Given the description of an element on the screen output the (x, y) to click on. 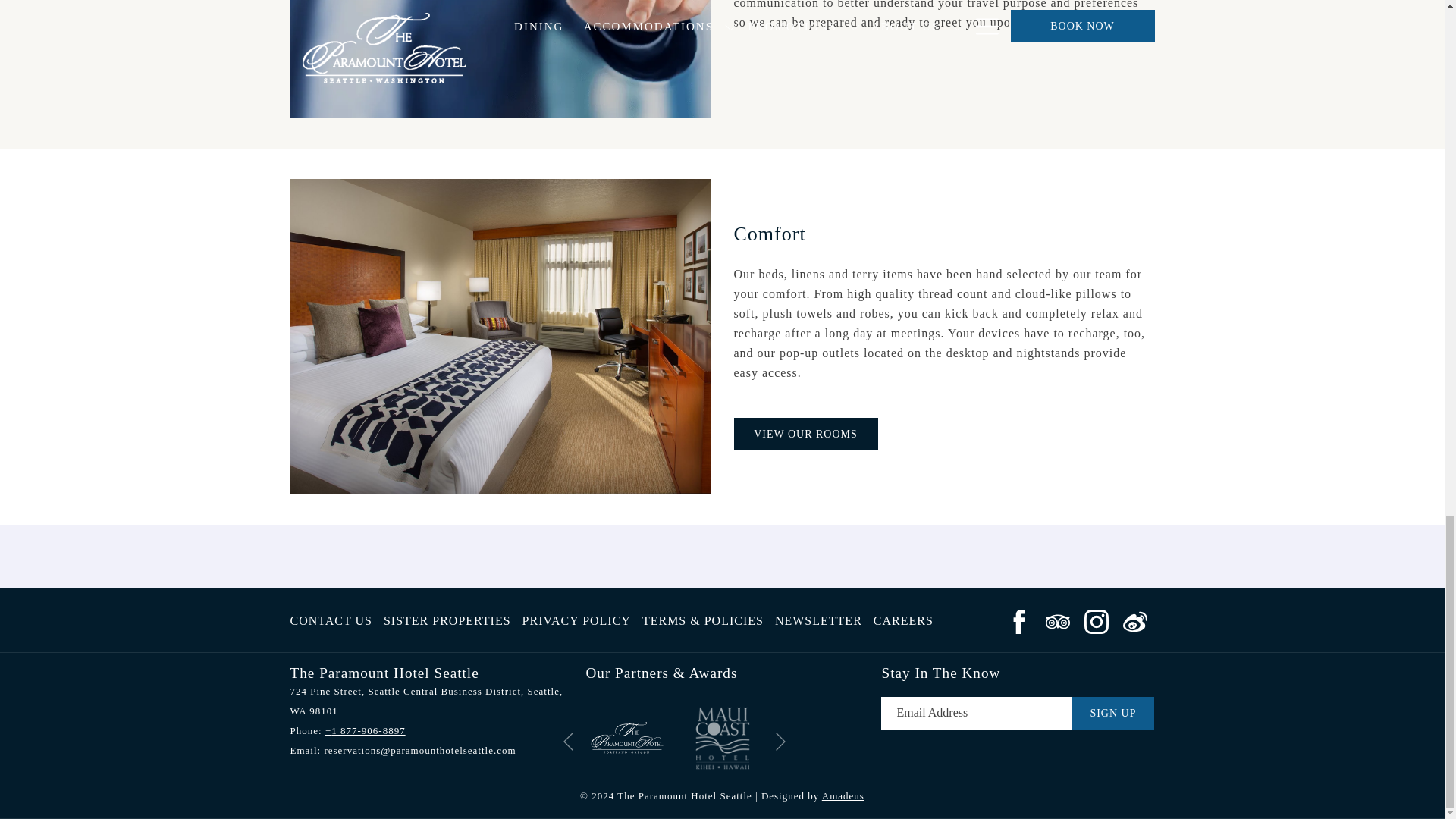
VIEW OUR ROOMS (805, 433)
CONTACT US (330, 621)
